Given the description of an element on the screen output the (x, y) to click on. 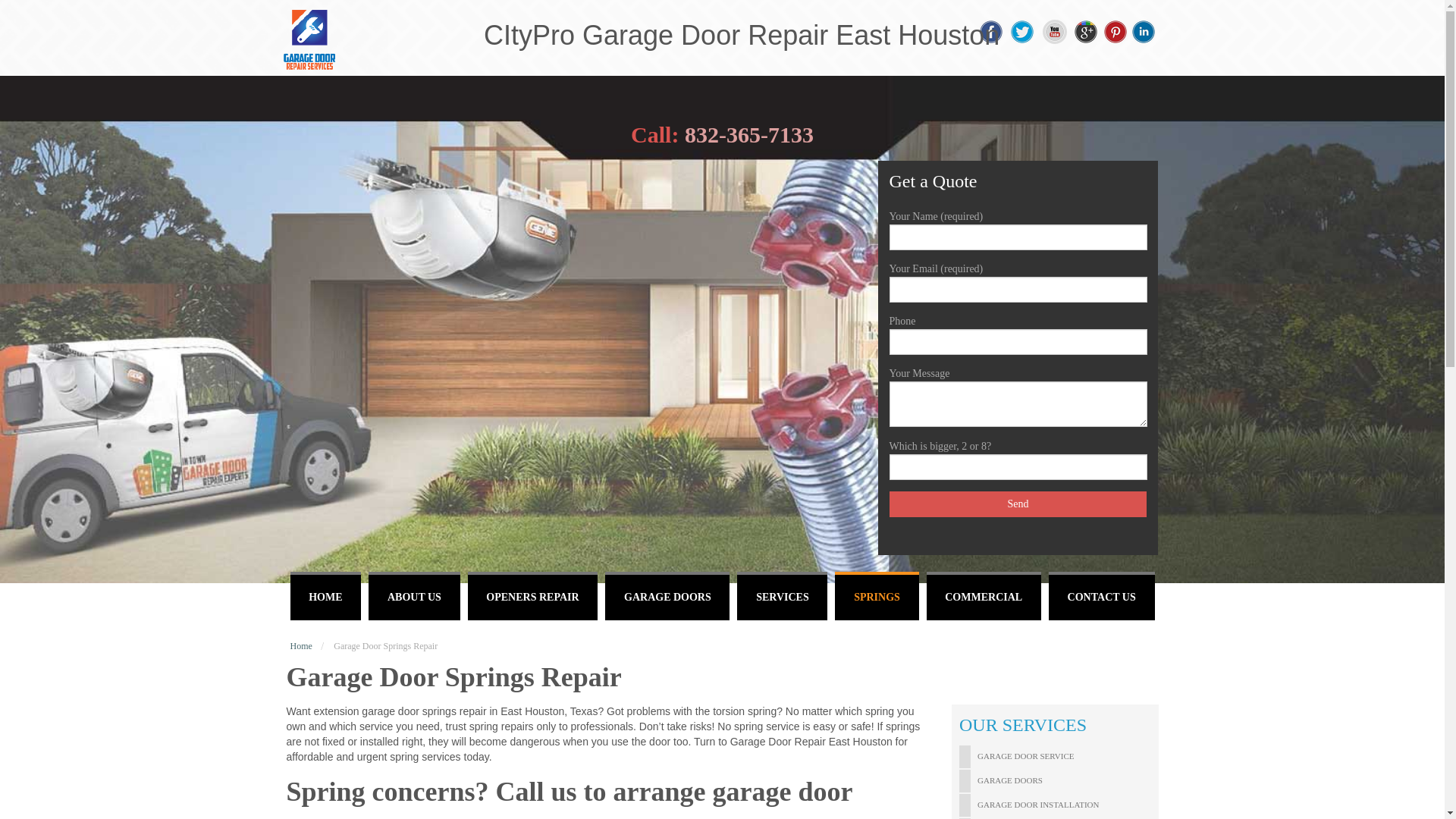
youtube (1054, 31)
linkedin (1143, 31)
OPENERS REPAIR (532, 595)
ABOUT US (414, 595)
832-365-7133 (748, 134)
HOME (325, 595)
pinterest (1114, 31)
Send (1017, 503)
facebook (990, 31)
Send (1017, 503)
